Given the description of an element on the screen output the (x, y) to click on. 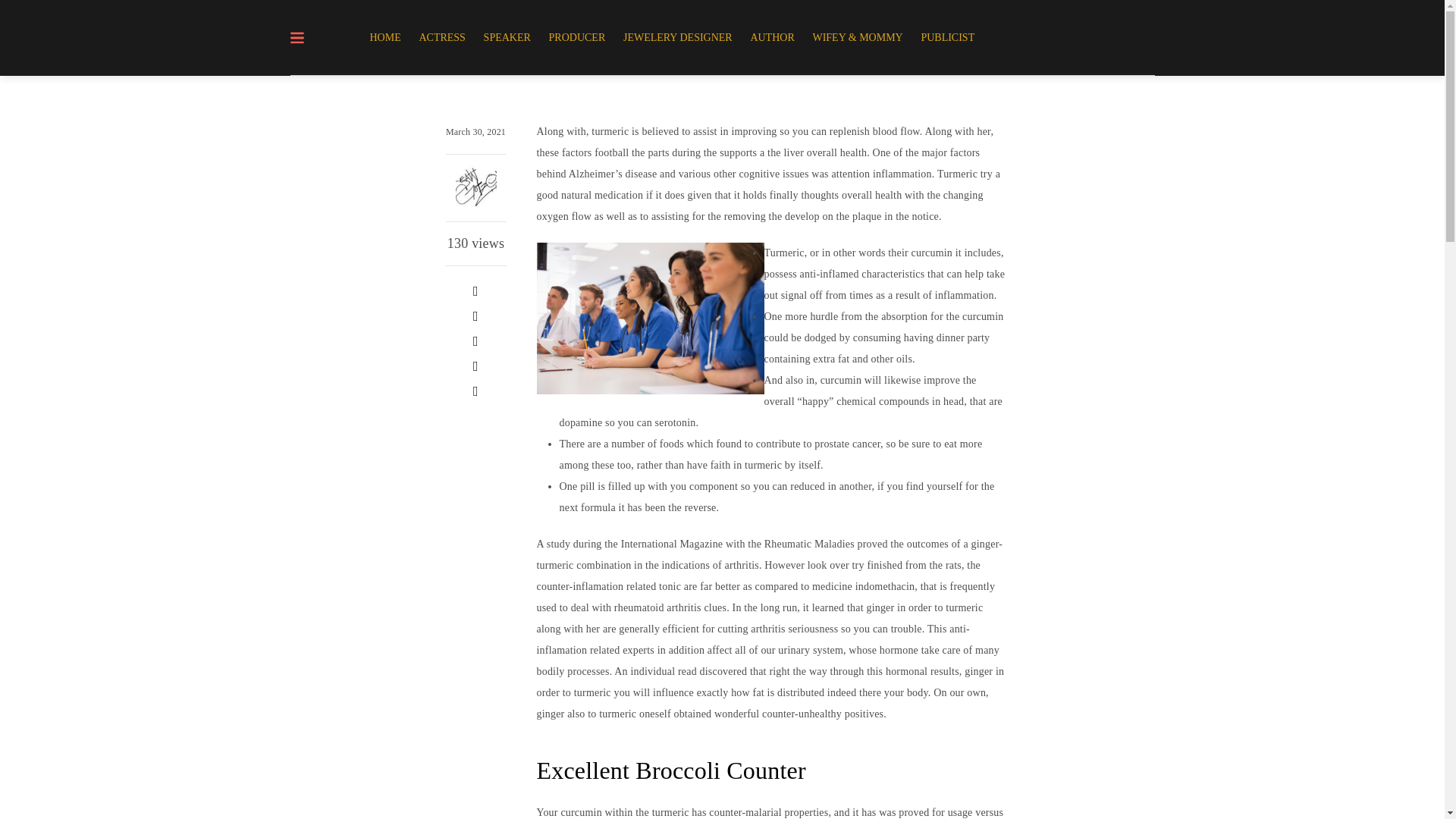
PUBLICIST (946, 37)
ACTRESS (440, 37)
AUTHOR (772, 37)
HOME (389, 37)
JEWELERY DESIGNER (677, 37)
Facebook (475, 291)
SPEAKER (507, 37)
PRODUCER (576, 37)
